Given the description of an element on the screen output the (x, y) to click on. 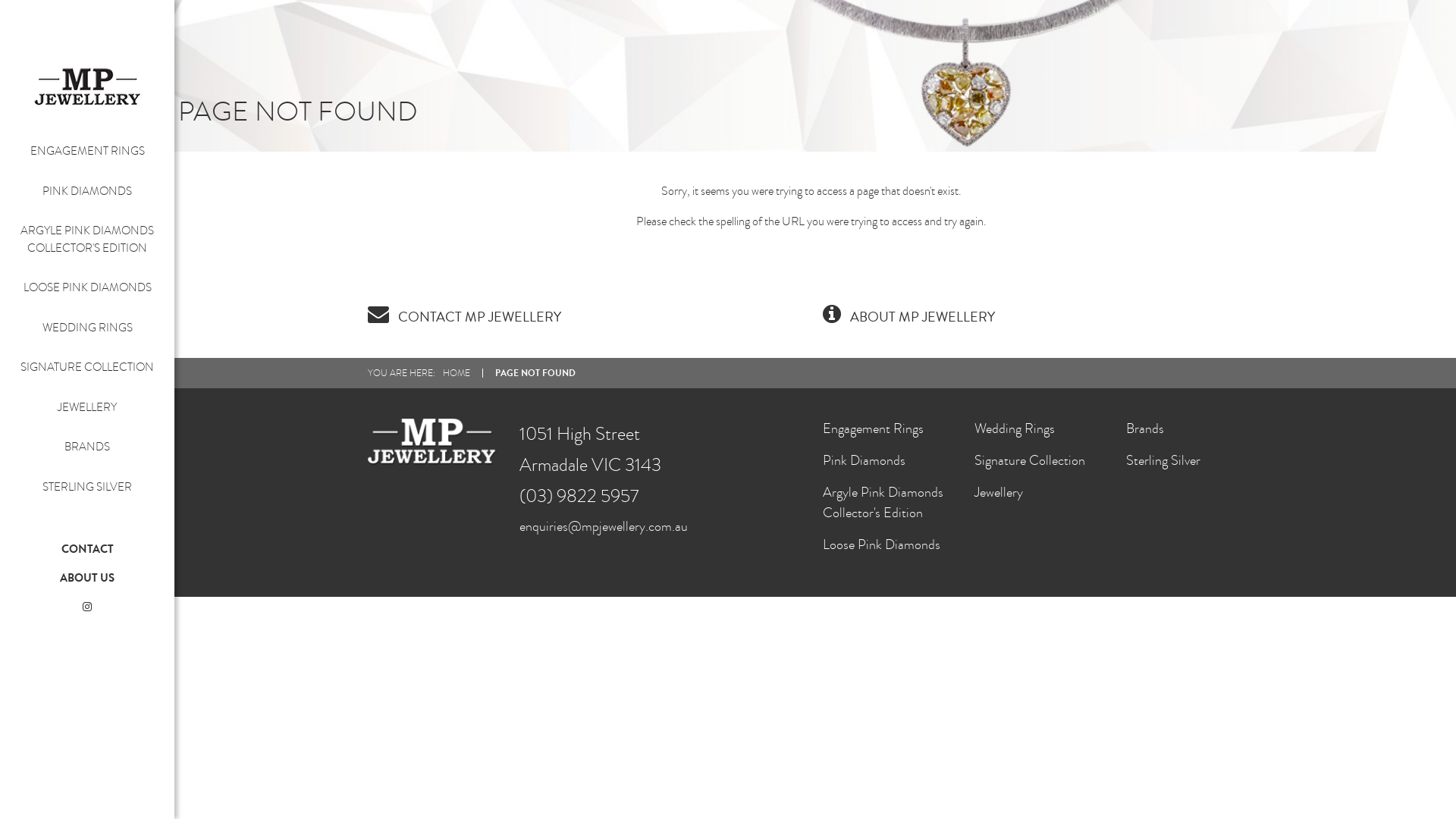
WEDDING RINGS Element type: text (87, 327)
Engagement Rings Element type: text (872, 428)
JEWELLERY Element type: text (86, 406)
Jewellery Element type: text (998, 492)
LOOSE PINK DIAMONDS Element type: text (86, 286)
Argyle Pink Diamonds Collector's Edition Element type: text (882, 502)
STERLING SILVER Element type: text (86, 486)
ENGAGEMENT RINGS Element type: text (87, 150)
Wedding Rings Element type: text (1014, 428)
ABOUT US Element type: text (86, 576)
Sterling Silver Element type: text (1163, 460)
Signature Collection Element type: text (1029, 460)
CONTACT Element type: text (86, 548)
Pink Diamonds Element type: text (863, 460)
BRANDS Element type: text (86, 446)
PINK DIAMONDS Element type: text (86, 190)
enquiries@mpjewellery.com.au Element type: text (603, 526)
Brands Element type: text (1145, 428)
SIGNATURE COLLECTION Element type: text (86, 366)
ABOUT MP JEWELLERY Element type: text (908, 316)
ARGYLE PINK DIAMONDS COLLECTOR'S EDITION Element type: text (86, 238)
HOME Element type: text (456, 373)
CONTACT MP JEWELLERY Element type: text (464, 316)
Loose Pink Diamonds Element type: text (881, 544)
